Given the description of an element on the screen output the (x, y) to click on. 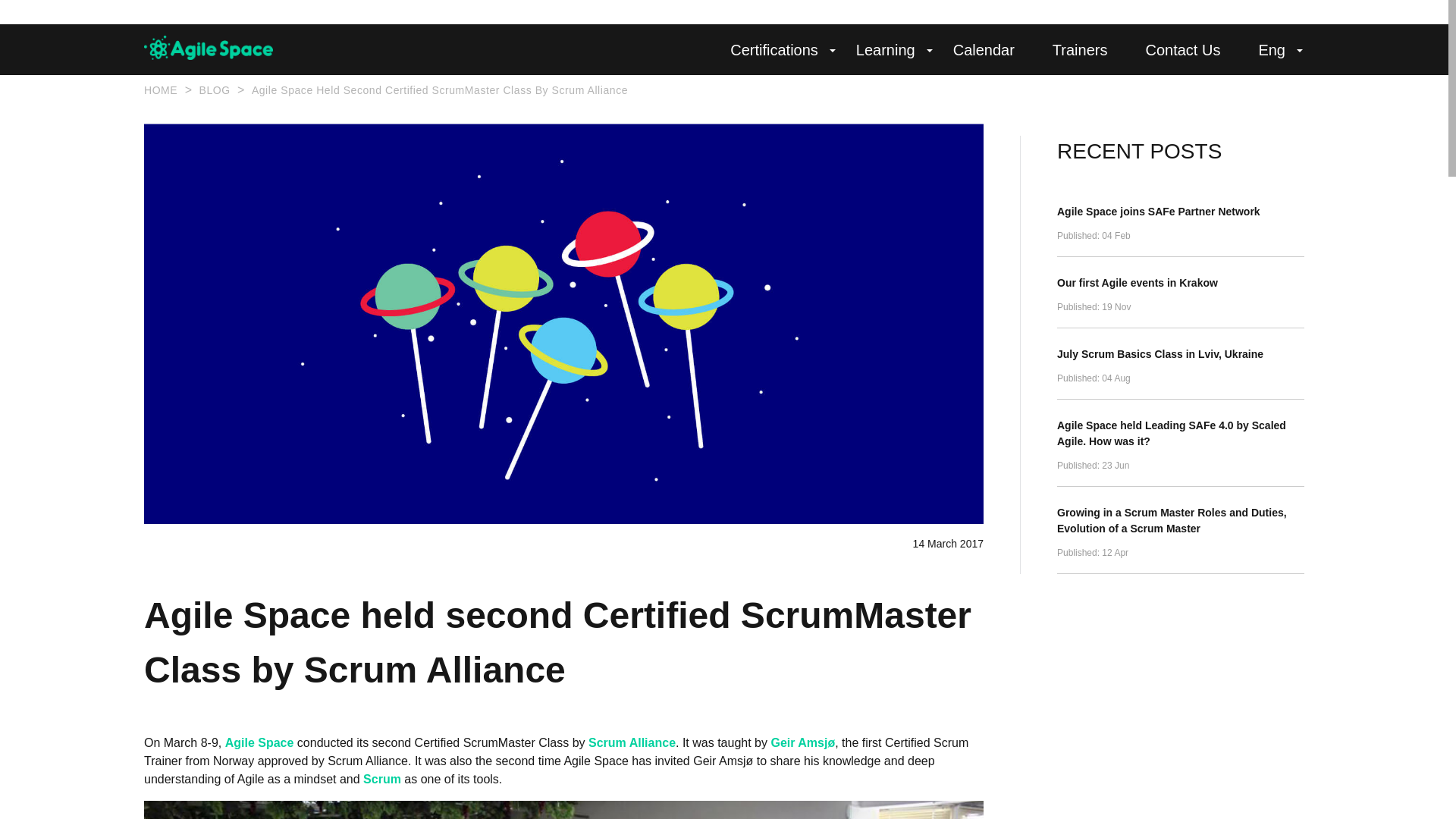
Go to Blog. (214, 90)
Contact Us (1182, 49)
Calendar (983, 49)
Go to Agile Space. (160, 90)
Learning (885, 49)
HOME (160, 90)
Certifications (774, 49)
Trainers (1079, 49)
Eng (1271, 49)
BLOG (214, 90)
